Given the description of an element on the screen output the (x, y) to click on. 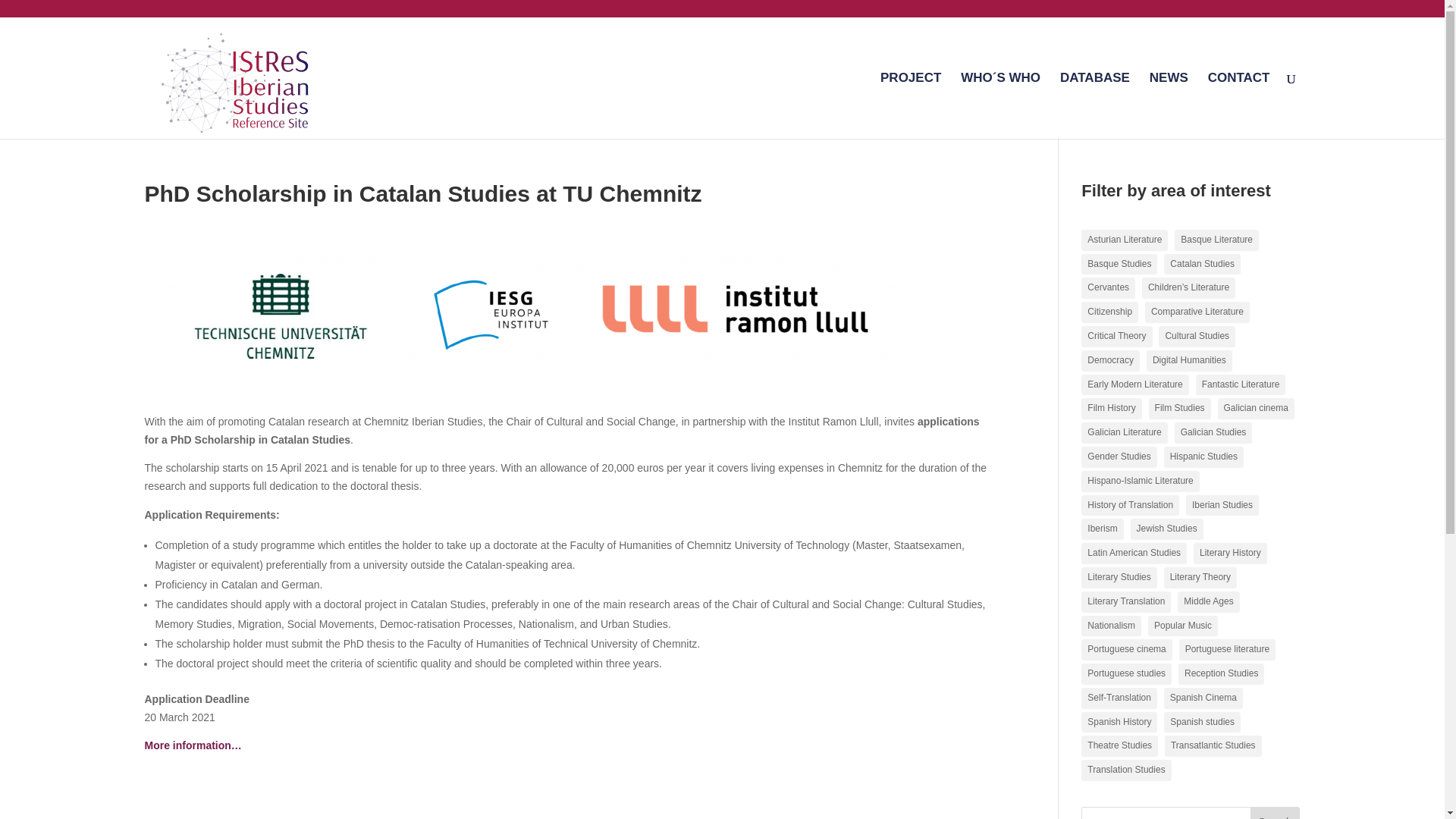
Gender Studies (1118, 456)
Galician Literature (1124, 432)
Cultural Studies (1196, 336)
Early Modern Literature (1134, 384)
Film Studies (1179, 408)
Democracy (1110, 360)
CONTACT (1238, 105)
PROJECT (910, 105)
Catalan Studies (1201, 264)
Iberian Studies (1222, 505)
